Given the description of an element on the screen output the (x, y) to click on. 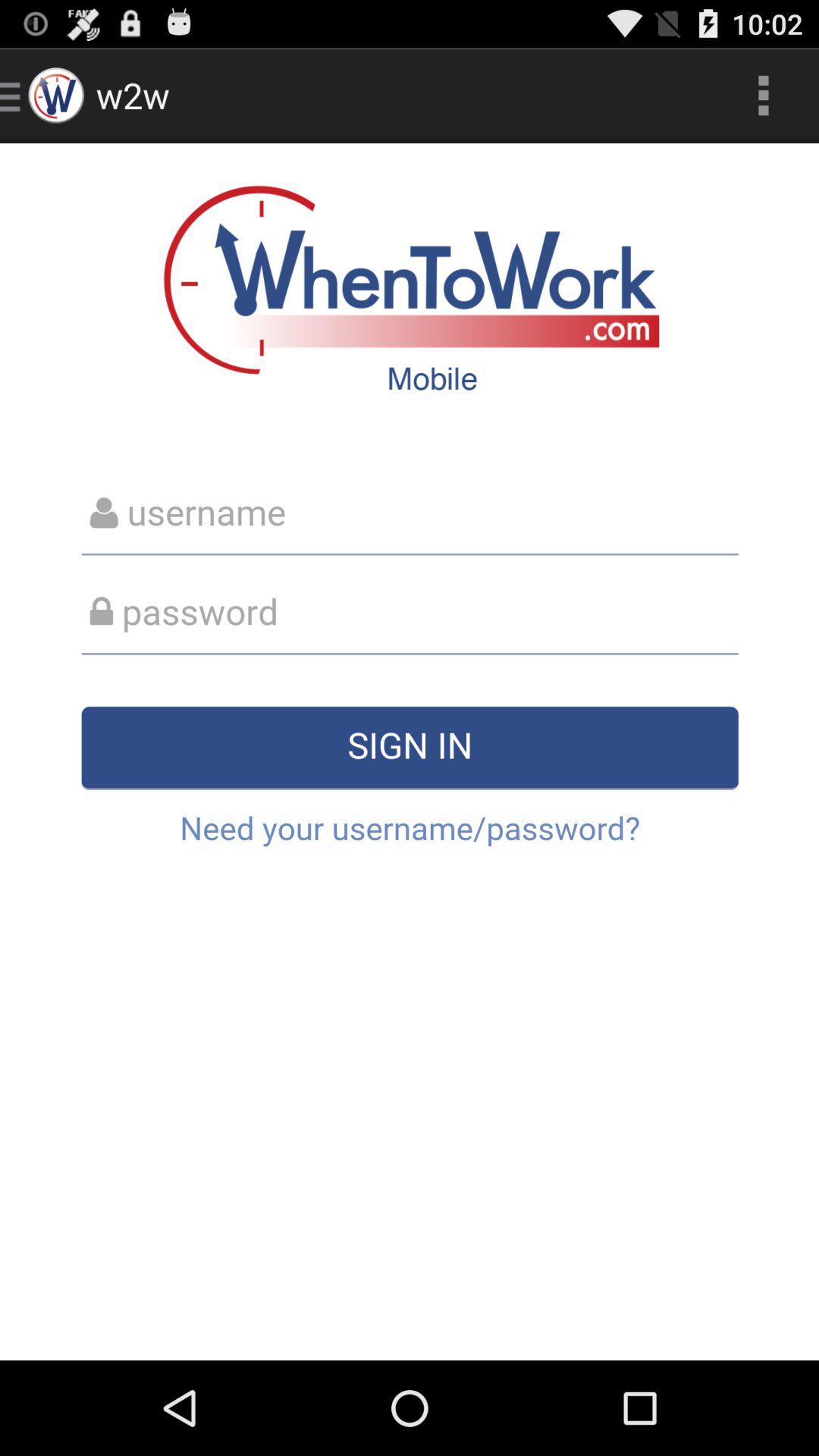
enter information to sign in (409, 751)
